Given the description of an element on the screen output the (x, y) to click on. 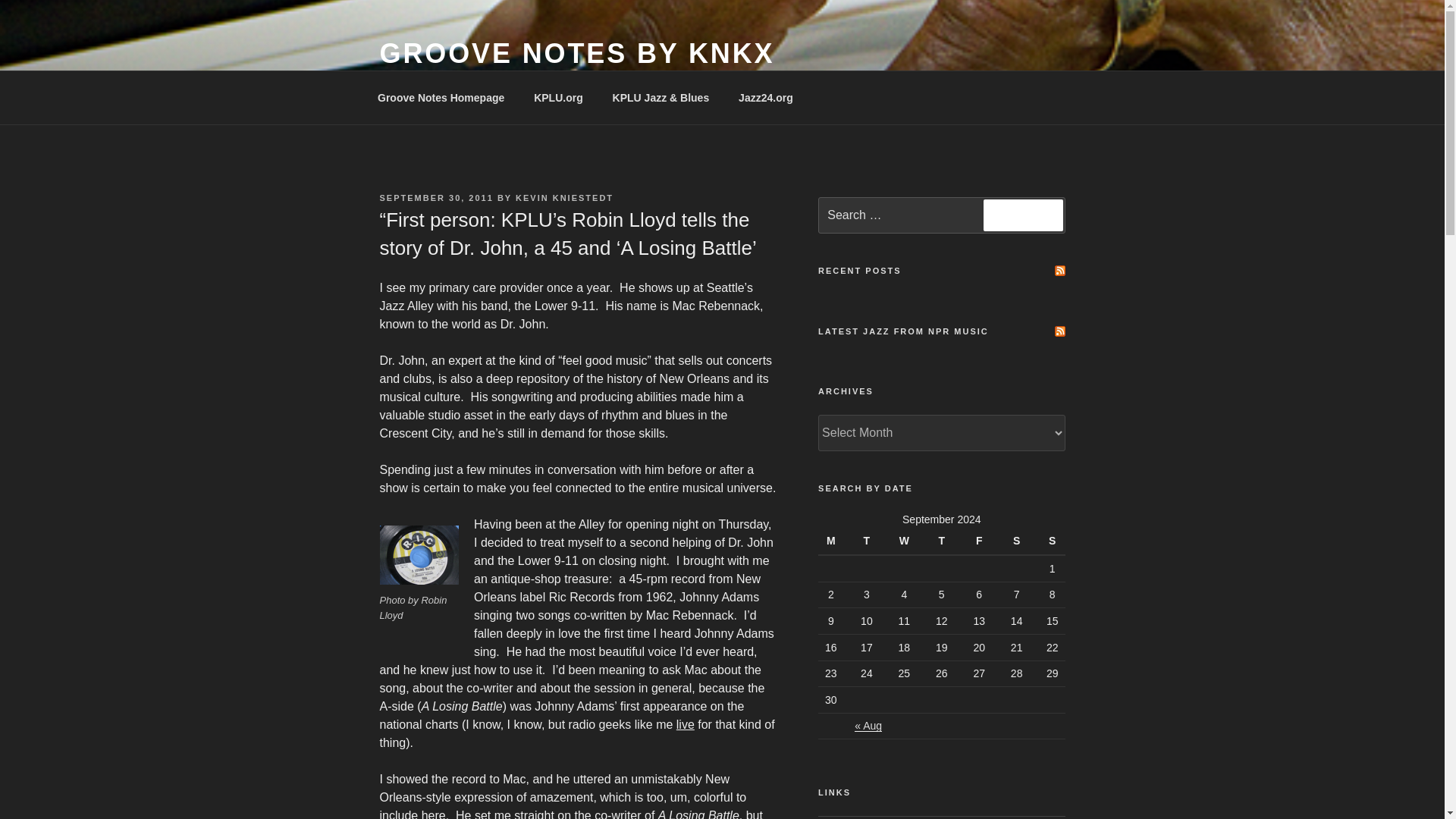
Friday (978, 541)
RECENT POSTS (859, 270)
KPLU.org (558, 97)
SEPTEMBER 30, 2011 (435, 197)
GROOVE NOTES BY KNKX (576, 52)
Wednesday (904, 541)
record (418, 555)
Saturday (1016, 541)
LATEST JAZZ FROM NPR MUSIC (903, 330)
Search (1023, 214)
